Given the description of an element on the screen output the (x, y) to click on. 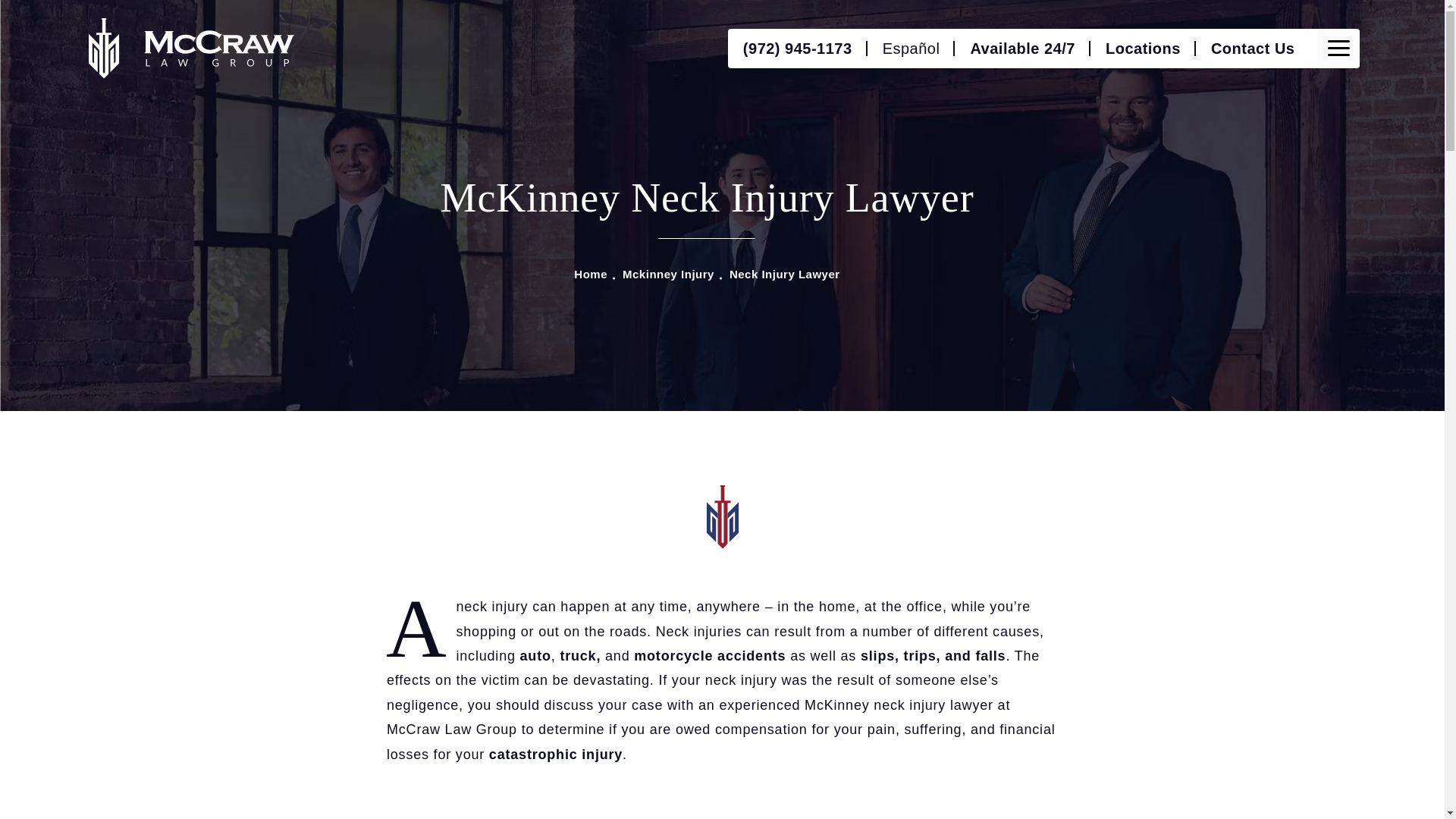
Locations (1142, 47)
Contact Us (1252, 47)
